Given the description of an element on the screen output the (x, y) to click on. 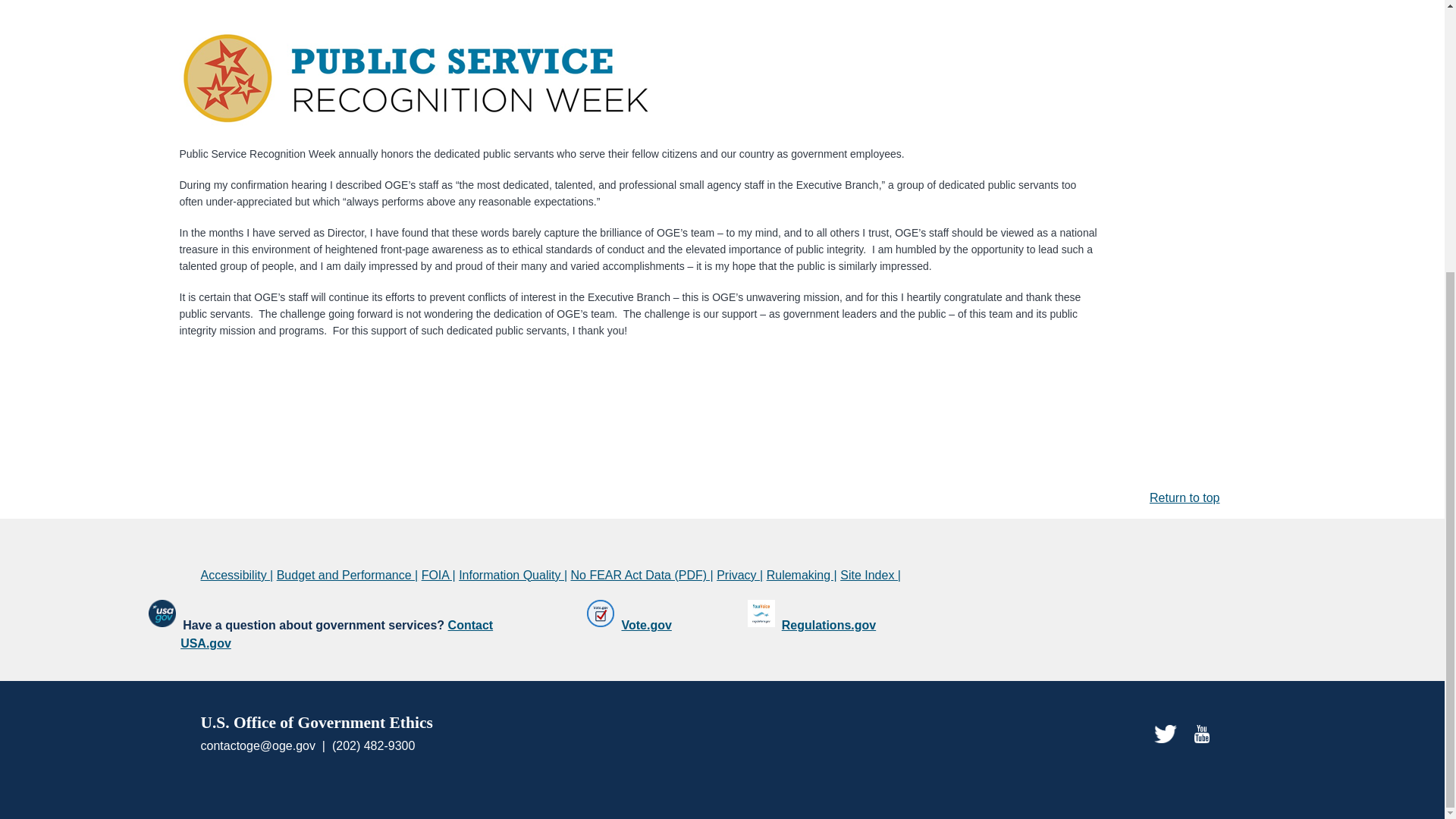
Contact USA.gov (336, 634)
Regulations.gov (828, 625)
Vote.gov (646, 625)
Return to top (1185, 497)
